Given the description of an element on the screen output the (x, y) to click on. 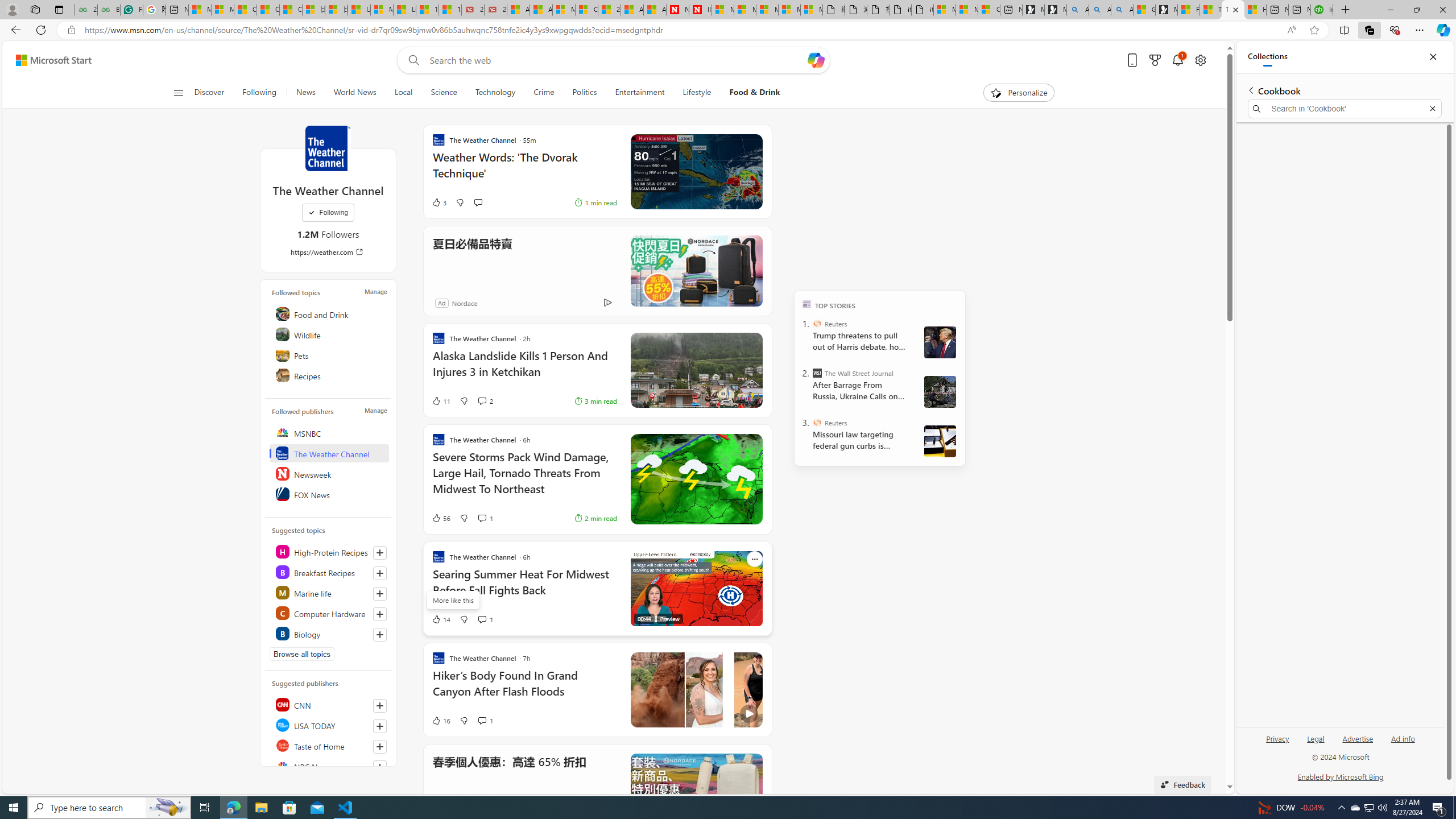
FOX News (328, 493)
21 Movies That Outdid the Books They Were Based On (495, 9)
Search in 'Cookbook' (1345, 108)
USA TODAY - MSN (359, 9)
Illness news & latest pictures from Newsweek.com (700, 9)
3 Like (438, 202)
Food and Drink - MSN (1188, 9)
